Given the description of an element on the screen output the (x, y) to click on. 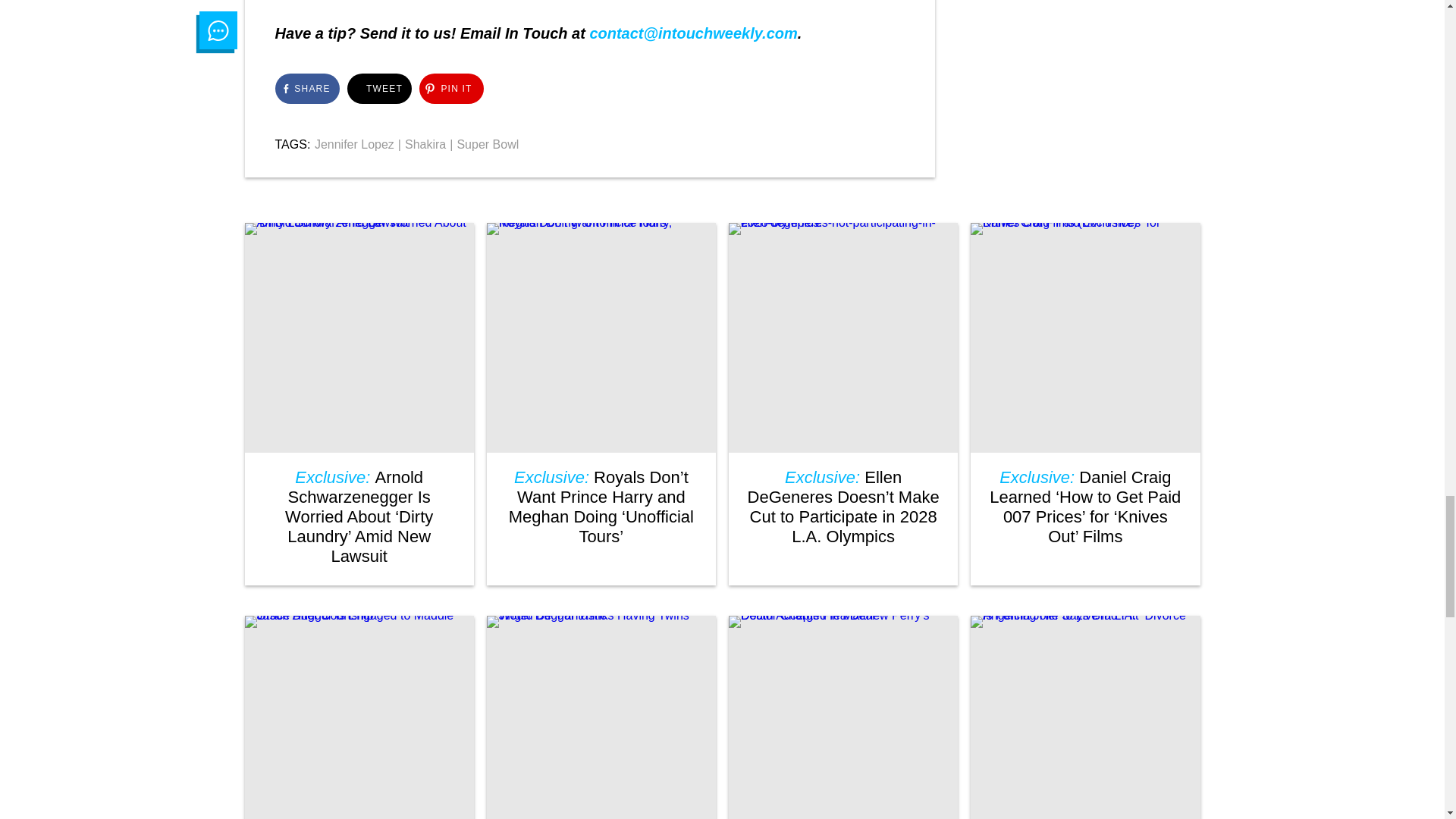
Click to share on Twitter (379, 88)
Click to share on Pinterest (451, 88)
Click to share on Facebook (307, 88)
